Given the description of an element on the screen output the (x, y) to click on. 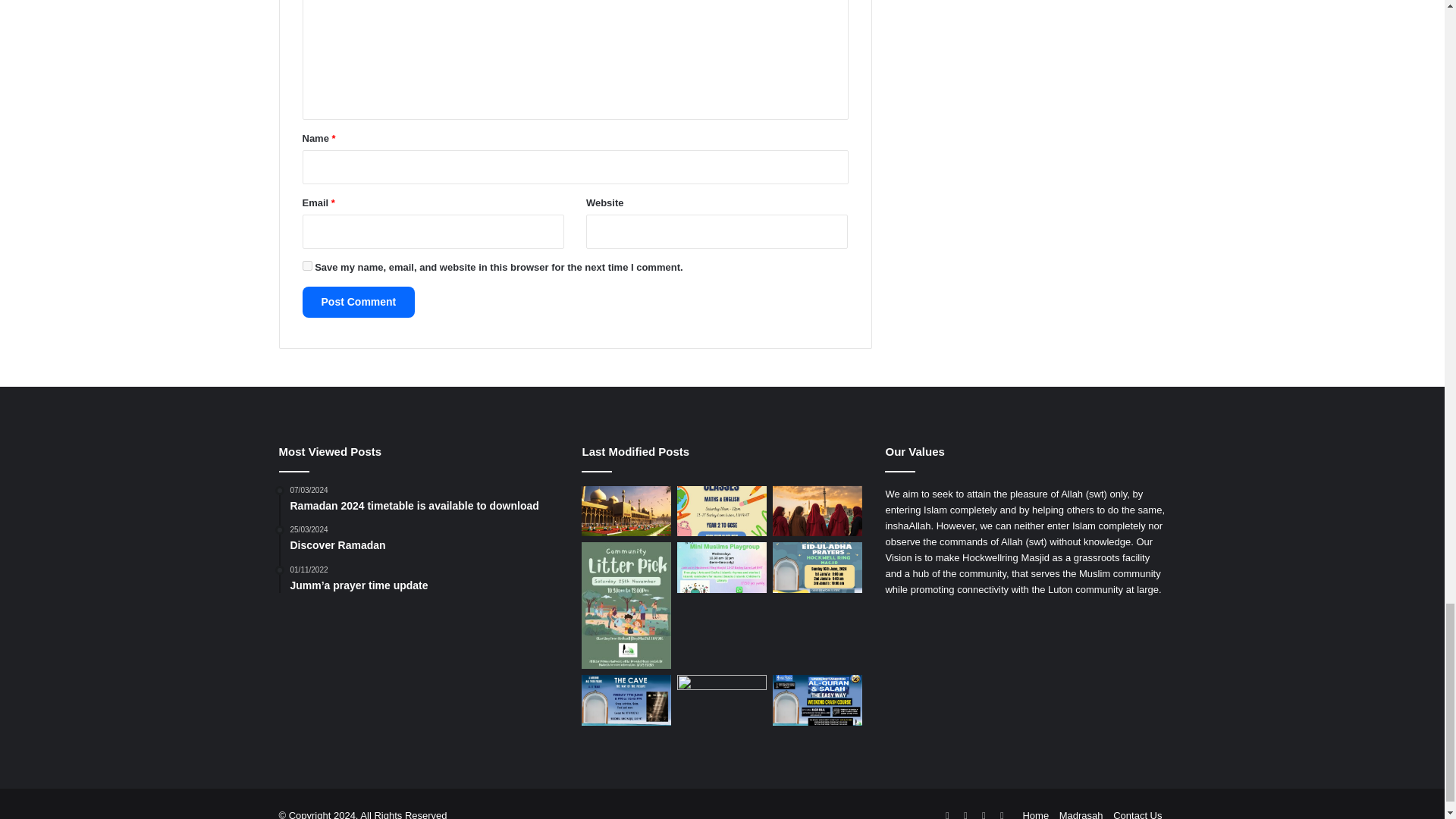
yes (306, 266)
Post Comment (357, 301)
